Given the description of an element on the screen output the (x, y) to click on. 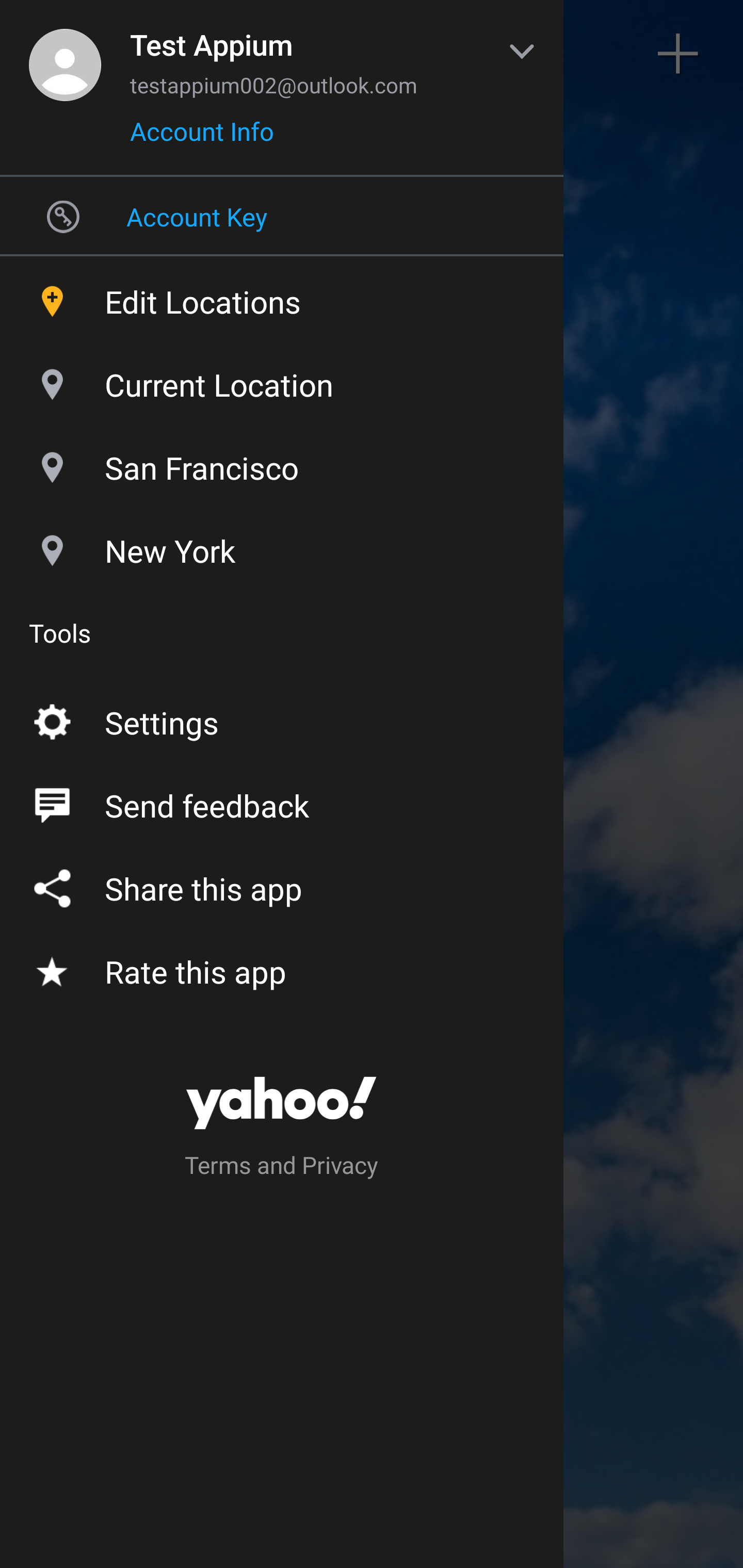
Sidebar (64, 54)
Account Info (202, 137)
Account Key (281, 216)
Edit Locations (281, 296)
Current Location (281, 379)
San Francisco (281, 462)
New York (281, 546)
Settings (281, 718)
Send feedback (281, 801)
Share this app (281, 884)
Terms and Privacy Terms and privacy button (281, 1168)
